Given the description of an element on the screen output the (x, y) to click on. 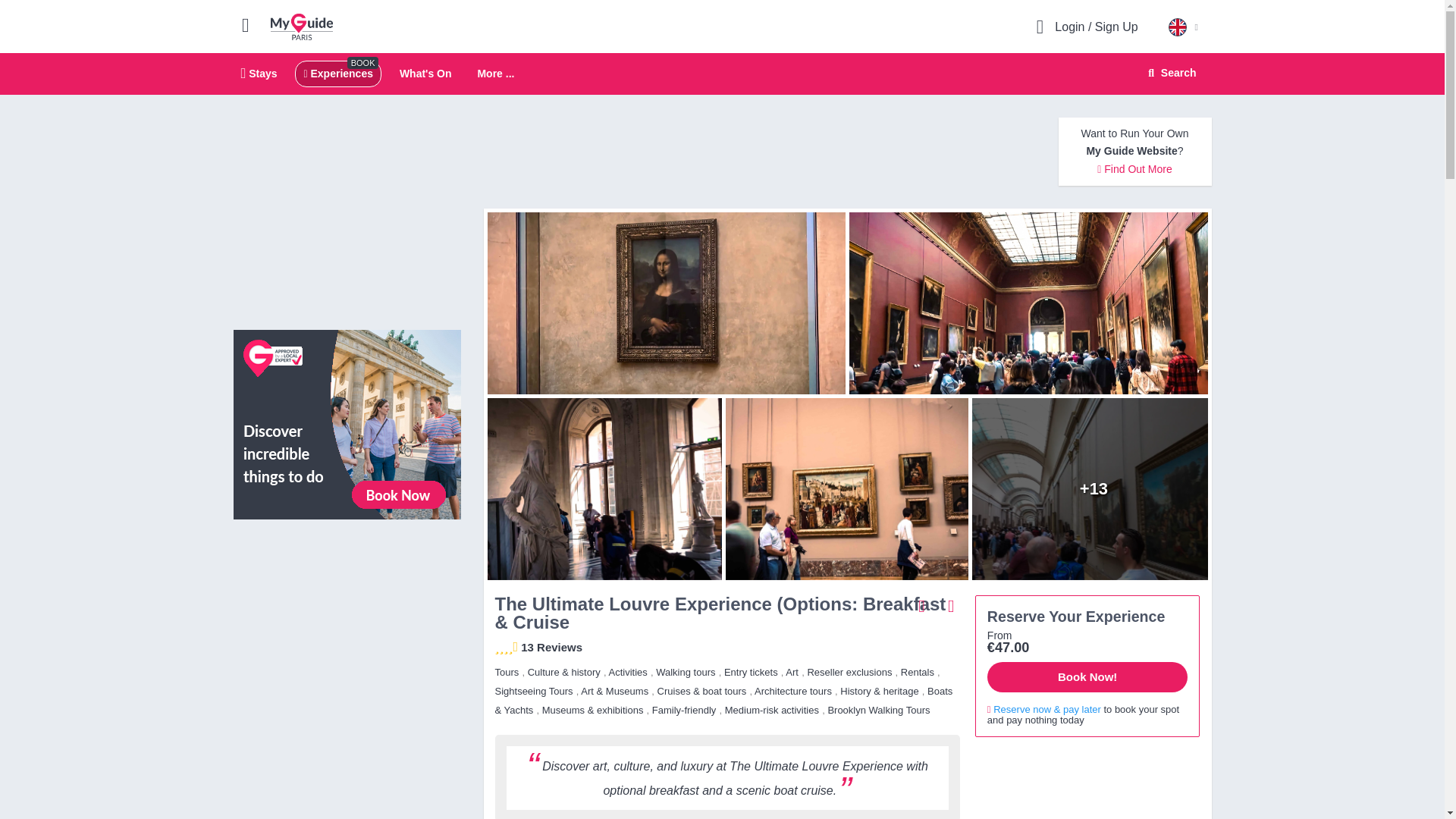
GetYourGuide Widget (1087, 783)
More ... (495, 73)
Experiences (337, 73)
Stays (259, 73)
GetYourGuide Widget (346, 599)
Search (1169, 72)
What's On (721, 74)
My Guide Paris (424, 73)
